Given the description of an element on the screen output the (x, y) to click on. 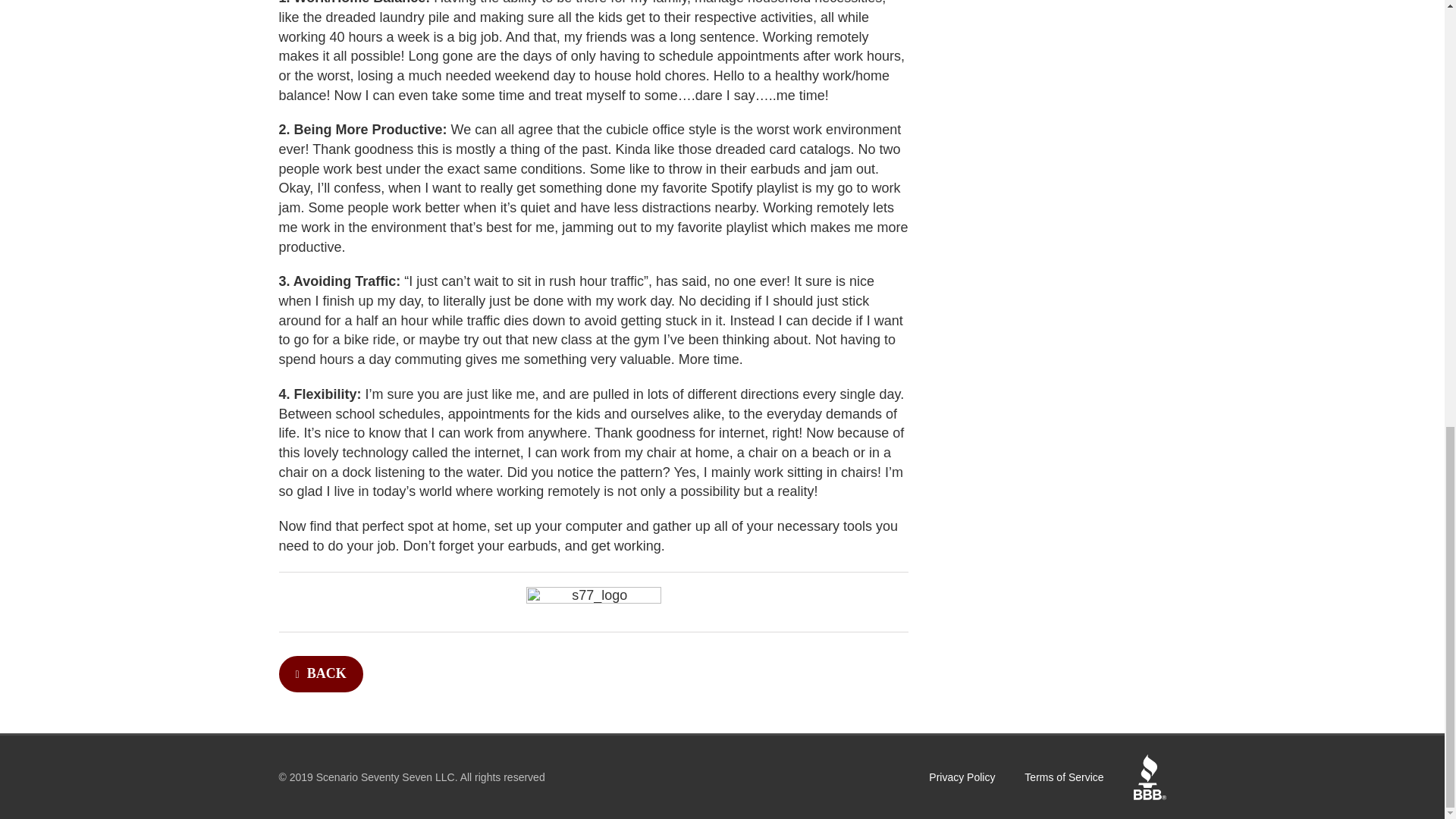
BACK (320, 674)
BACK (593, 662)
Privacy Policy (961, 776)
Terms of Service (1064, 776)
